Given the description of an element on the screen output the (x, y) to click on. 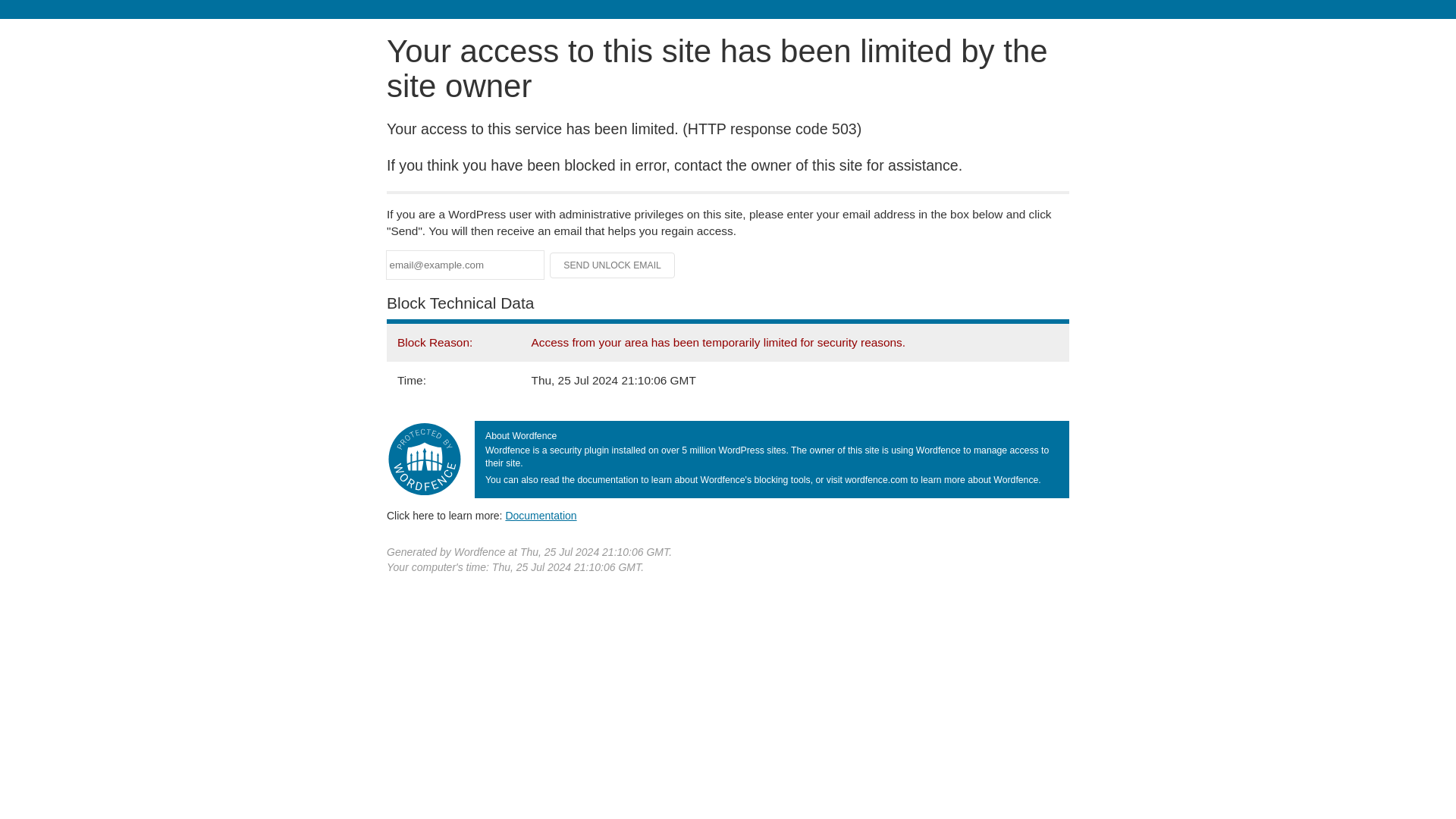
Documentation (540, 515)
Send Unlock Email (612, 265)
Send Unlock Email (612, 265)
